Given the description of an element on the screen output the (x, y) to click on. 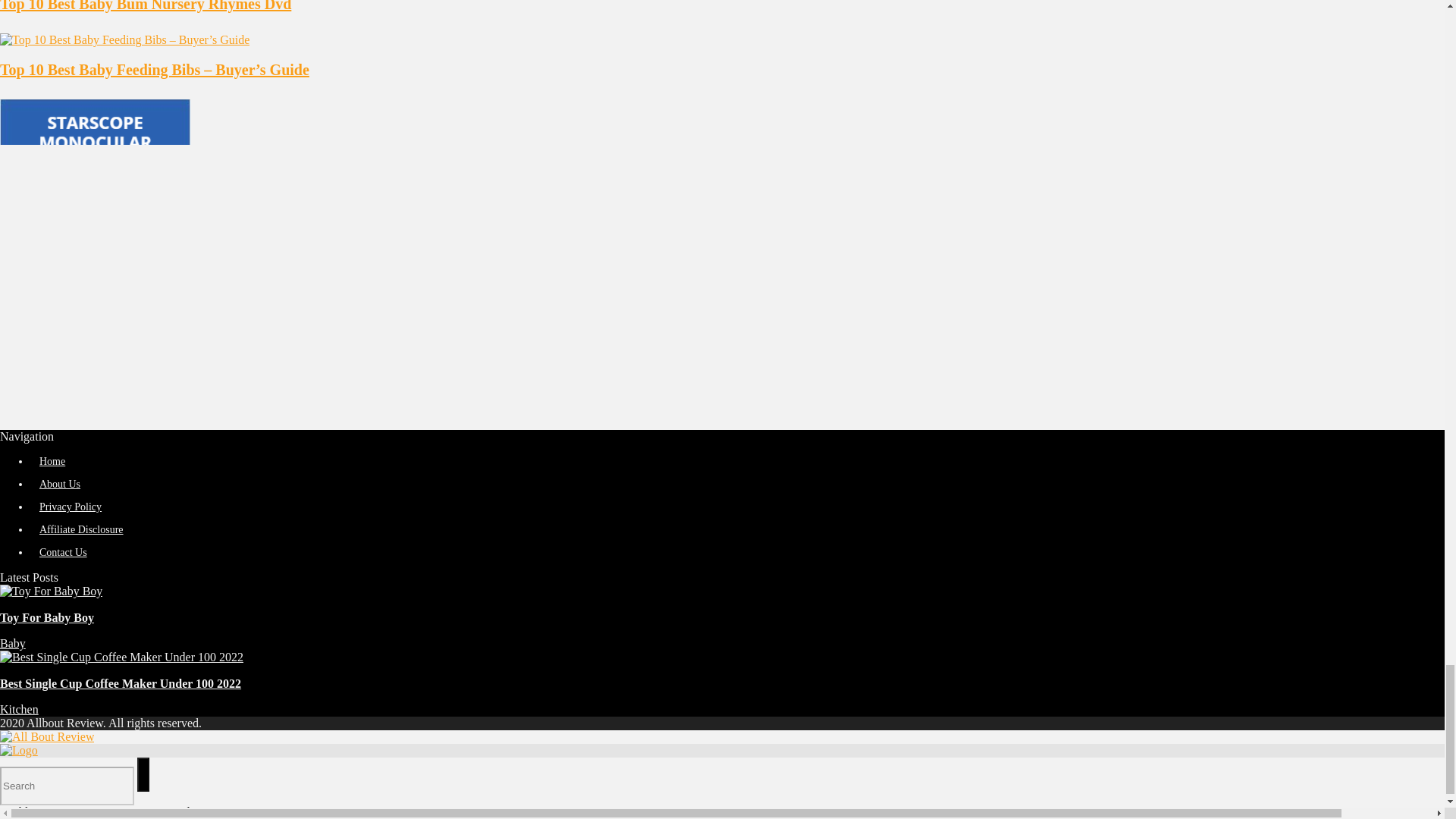
Home (52, 460)
Affiliate Disclosure (81, 529)
Top 10 Best Baby Bum Nursery Rhymes Dvd (145, 6)
Privacy Policy (70, 506)
About Us (59, 483)
Contact Us (63, 552)
